Given the description of an element on the screen output the (x, y) to click on. 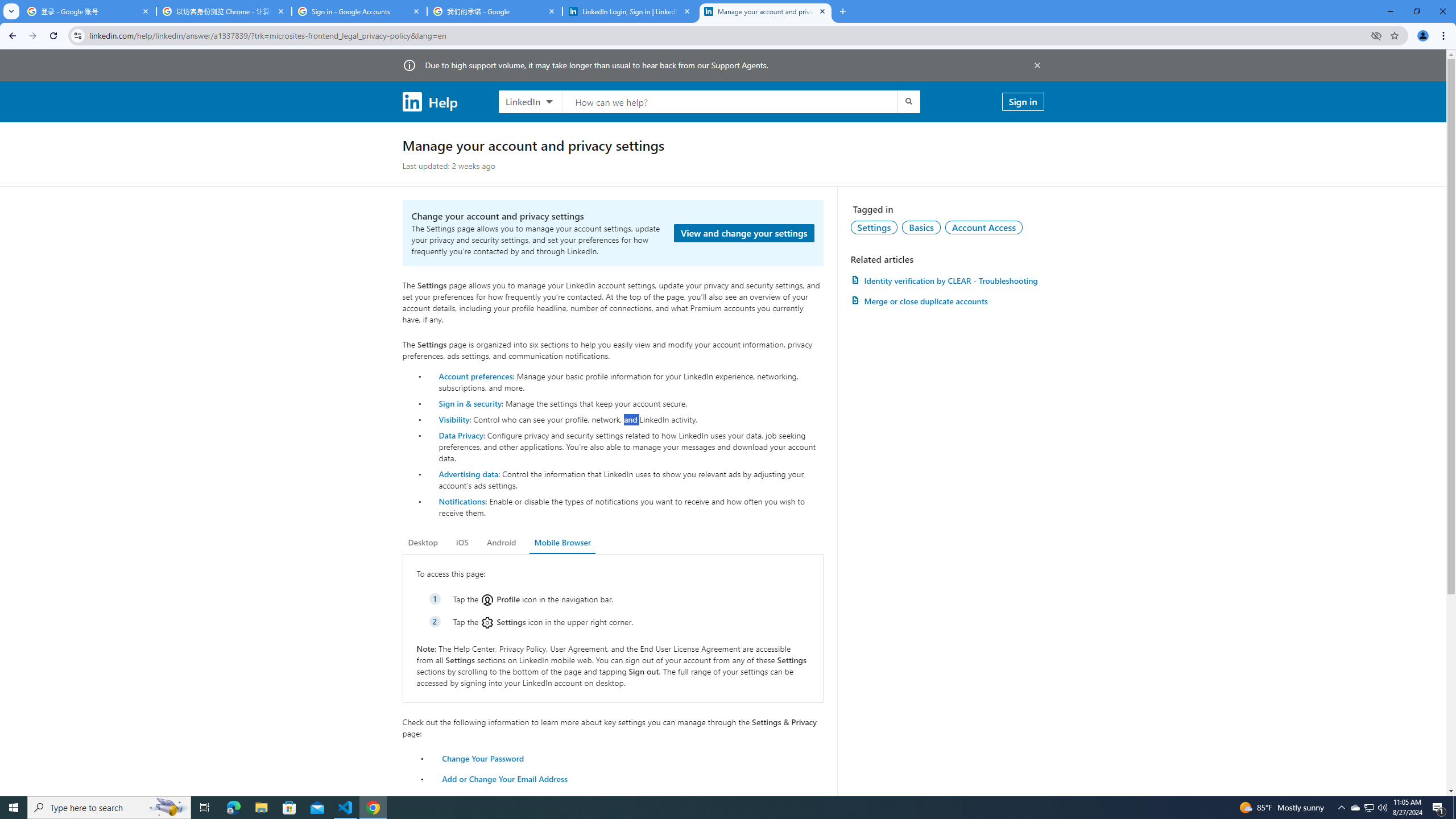
Add and Remove Mobile Phone Numbers (517, 799)
View and change your settings (743, 232)
AutomationID: topic-link-a149001 (874, 227)
AutomationID: topic-link-a151002 (983, 227)
Submit search (908, 101)
Account preferences (475, 375)
Change Your Password (483, 758)
AutomationID: article-link-a1457505 (946, 280)
Notifications (461, 500)
